Given the description of an element on the screen output the (x, y) to click on. 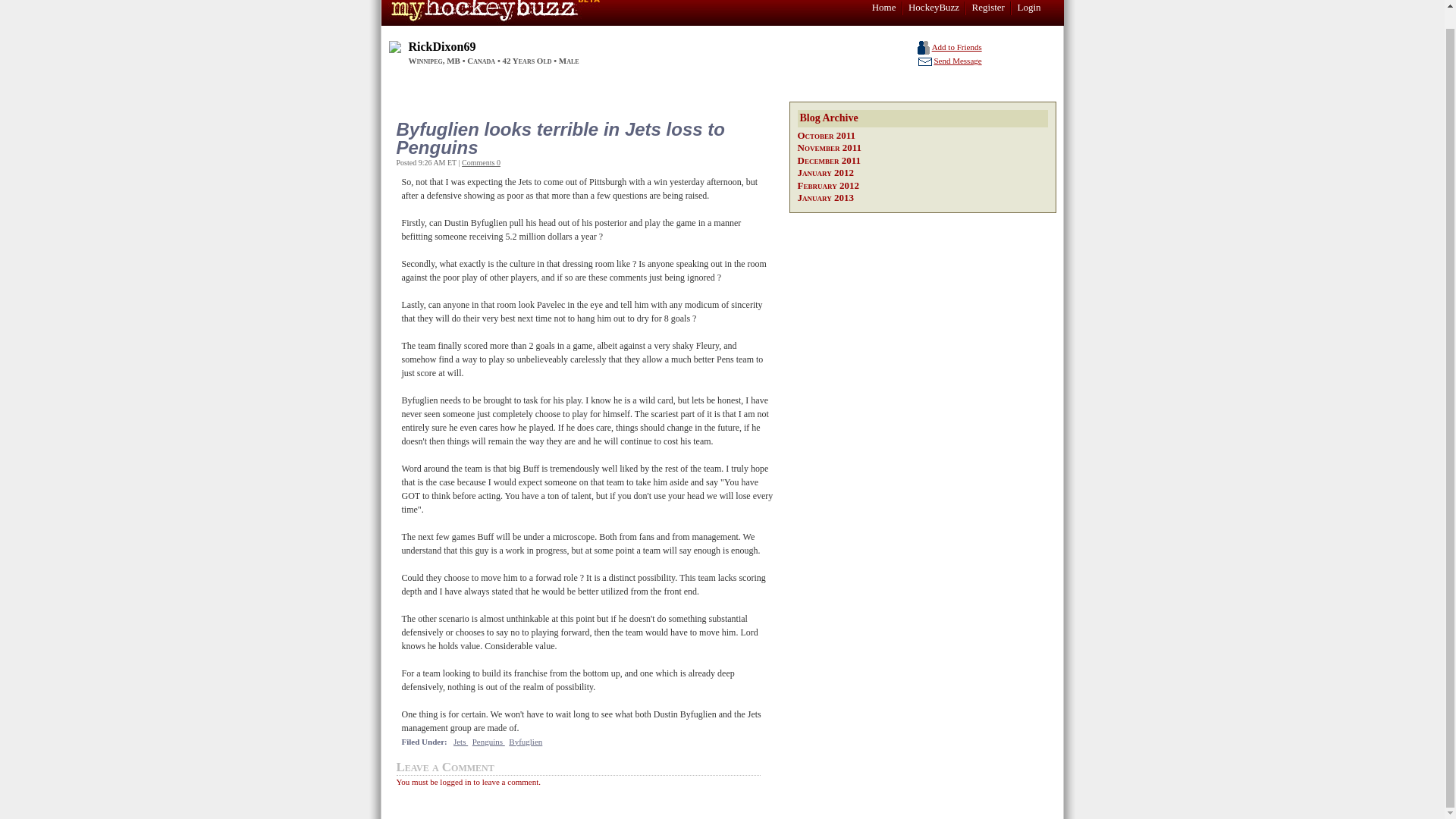
Comments 0 (480, 162)
November 2011 (829, 147)
Register (988, 7)
Byfuglien looks terrible in Jets loss to Penguins (581, 138)
Login (1028, 7)
October 2011 (826, 134)
Jets (459, 741)
Byfuglien (524, 741)
Penguins (488, 741)
Home (884, 7)
Send Message (957, 60)
HockeyBuzz (933, 7)
Blog Archive (922, 118)
Add to Friends (956, 46)
RickDixon69 (441, 46)
